Given the description of an element on the screen output the (x, y) to click on. 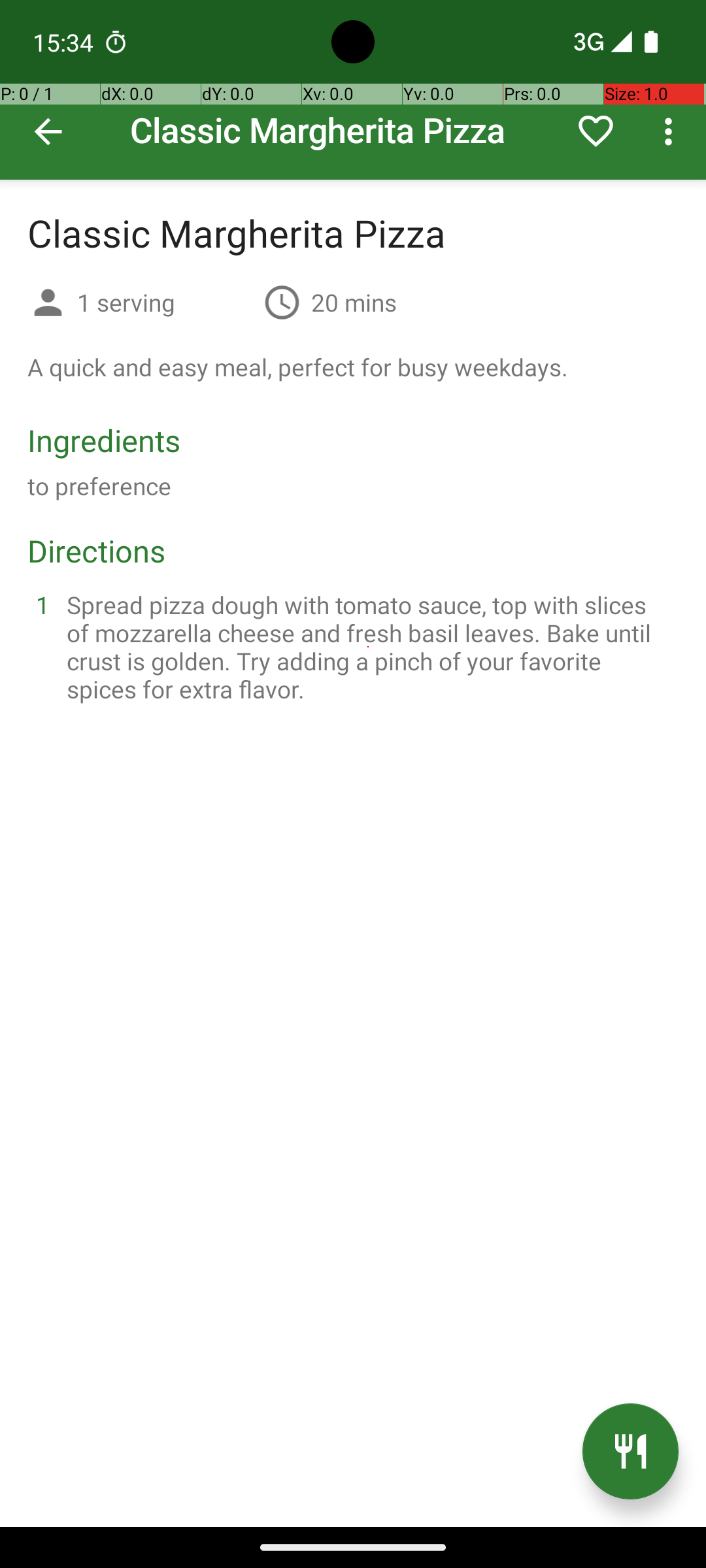
Spread pizza dough with tomato sauce, top with slices of mozzarella cheese and fresh basil leaves. Bake until crust is golden. Try adding a pinch of your favorite spices for extra flavor. Element type: android.widget.TextView (368, 646)
